Given the description of an element on the screen output the (x, y) to click on. 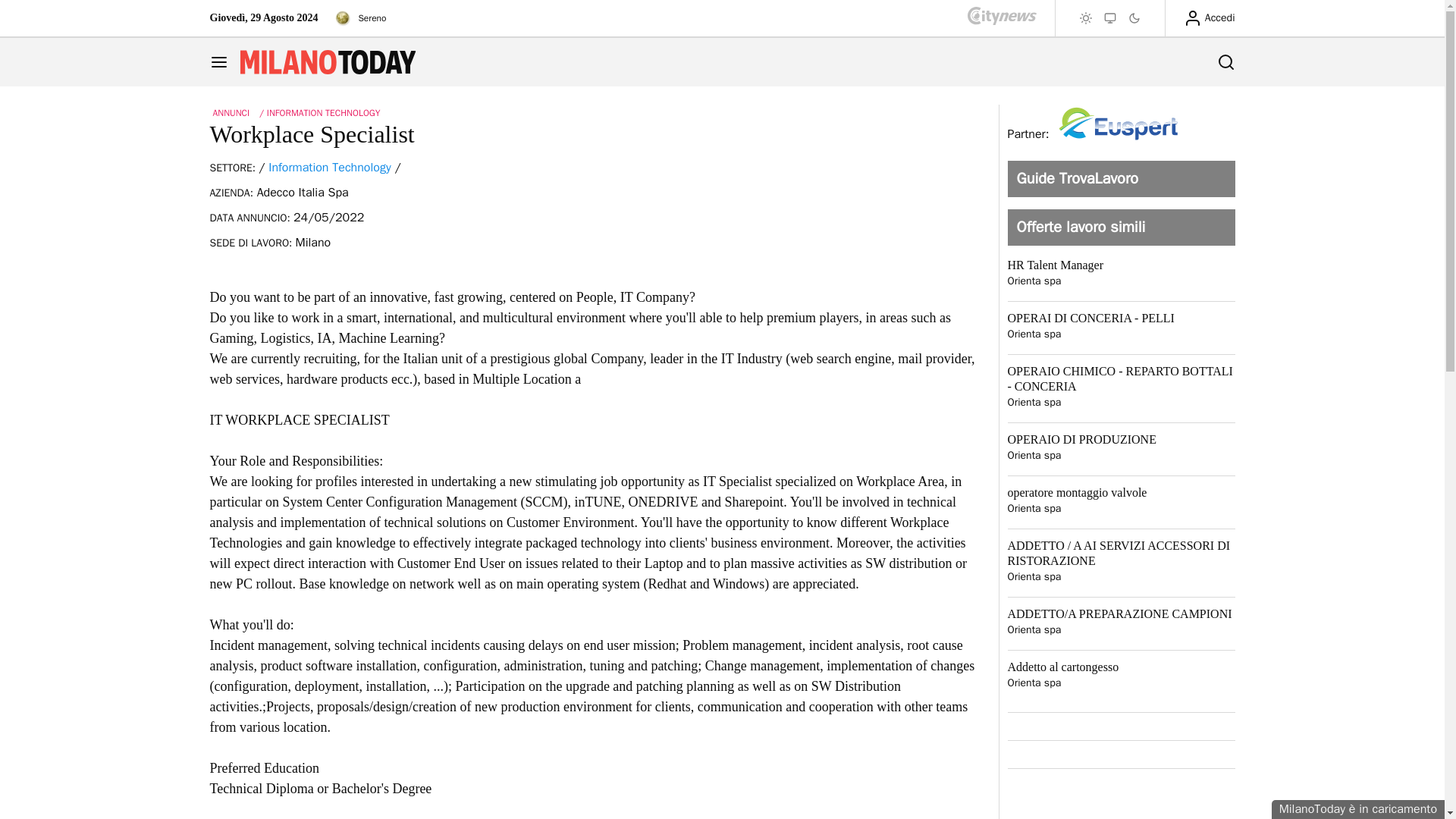
Sereno (358, 17)
operatore montaggio valvole (1120, 492)
Sereno (342, 17)
Information Technology (328, 167)
OPERAIO DI PRODUZIONE (1120, 439)
lavoro Information Technology a Milano (319, 112)
Annunci lavoro information-technology Milano (328, 167)
Il meteo a Milano: Sereno (358, 17)
OPERAIO CHIMICO - REPARTO BOTTALI - CONCERIA (1120, 378)
HR Talent Manager (1120, 264)
